Given the description of an element on the screen output the (x, y) to click on. 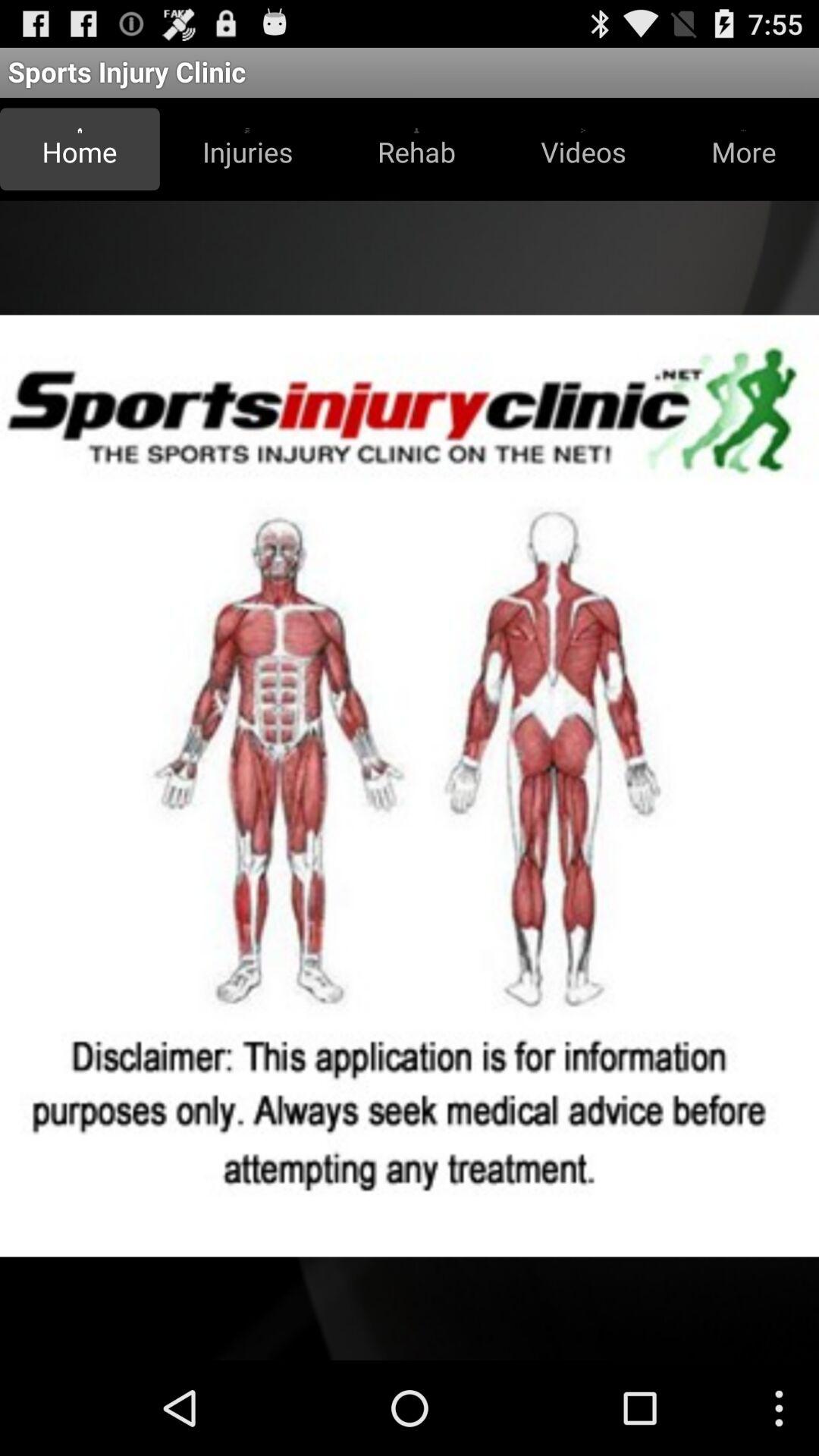
turn on the item next to videos (743, 149)
